Given the description of an element on the screen output the (x, y) to click on. 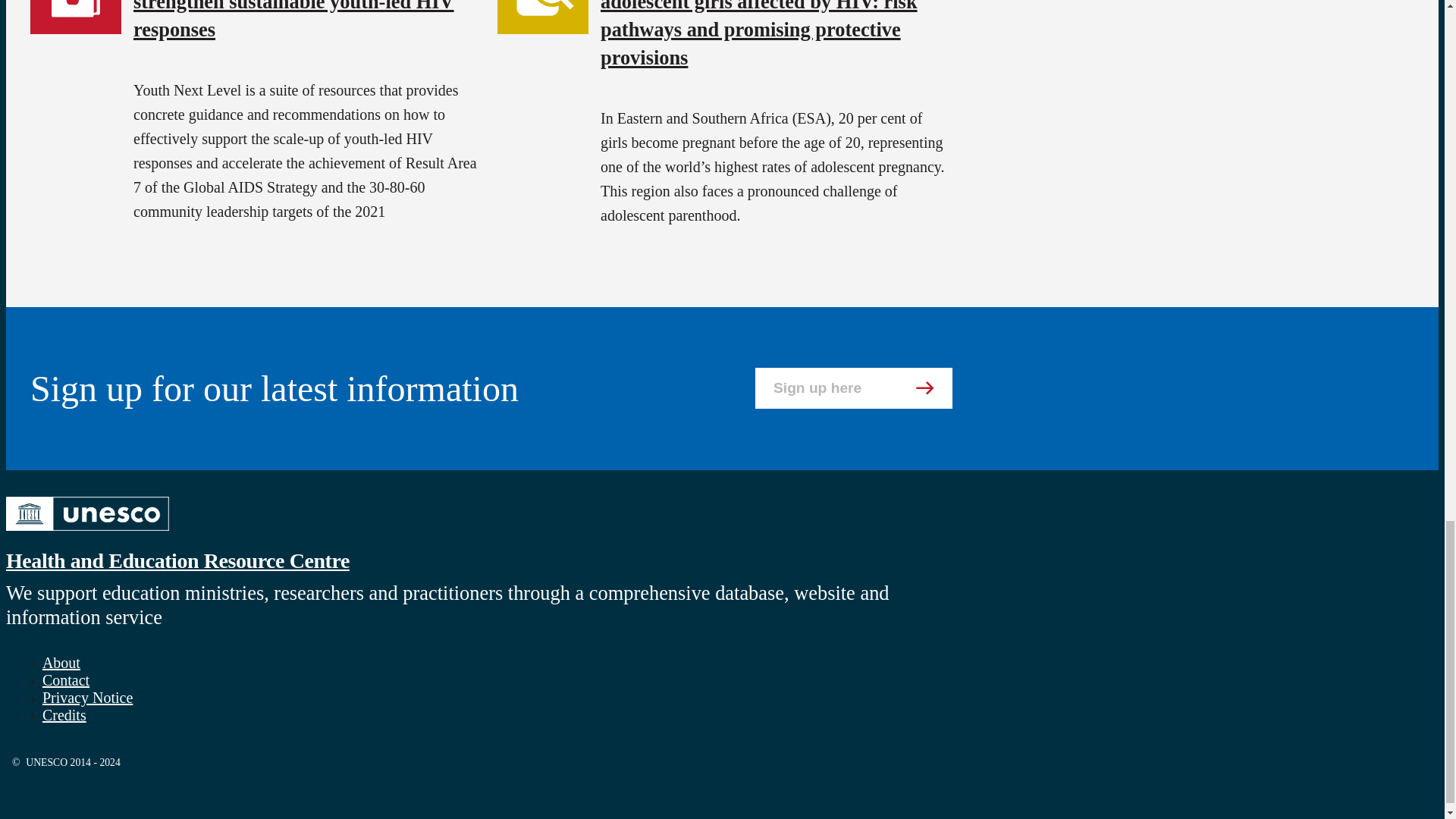
Home (177, 560)
Home (86, 532)
